Given the description of an element on the screen output the (x, y) to click on. 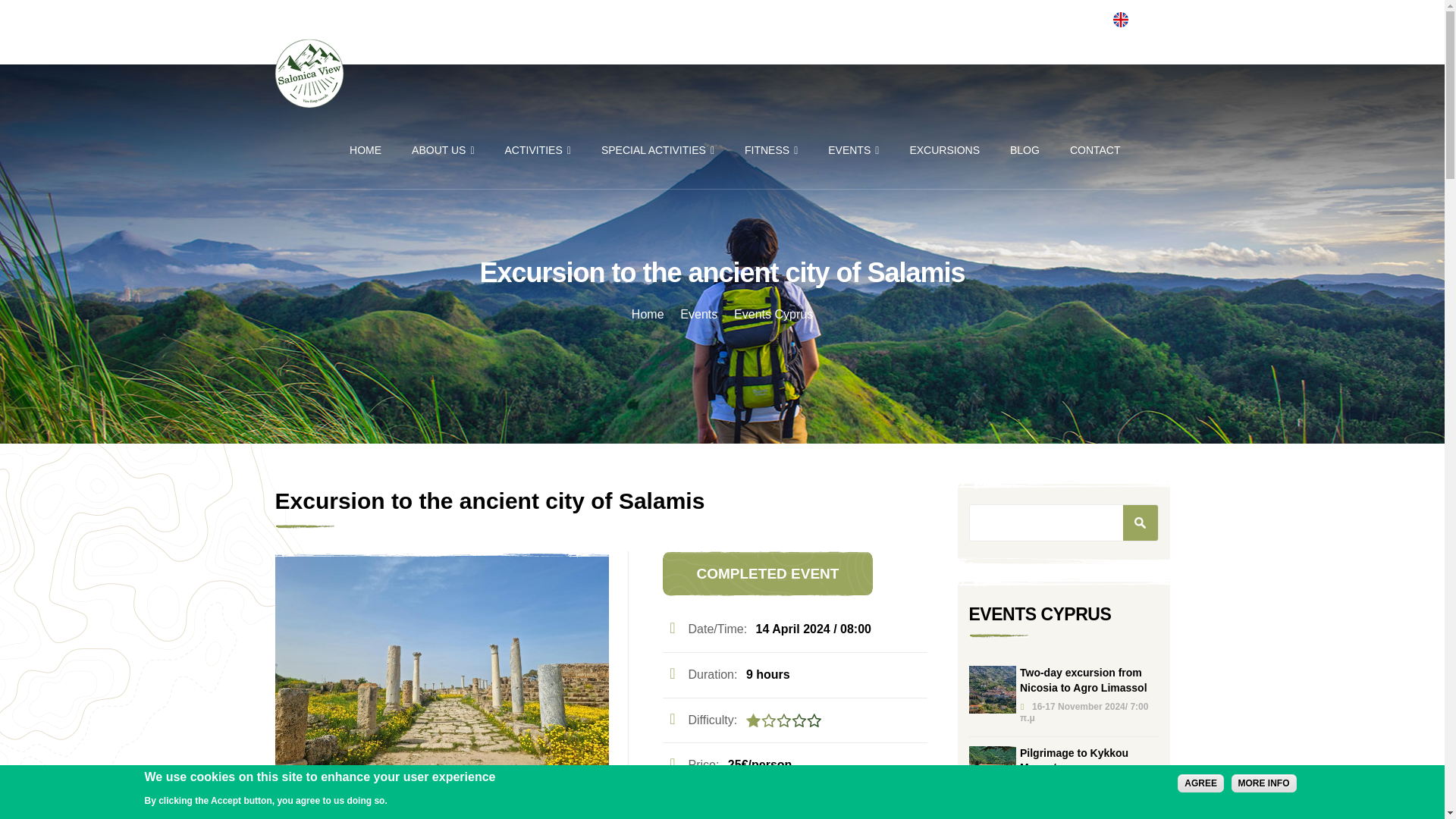
ABOUT US (443, 150)
Two-day excursion from Nicosia to Agro Limassol (992, 689)
Excursion to the ancient city of Salamis  (441, 662)
BLOG (1024, 150)
Enter the terms you wish to search for. (1063, 522)
FITNESS (770, 150)
EVENTS (853, 150)
Search (1139, 522)
Team Building  (672, 810)
Team Building  (733, 811)
HOME (365, 150)
Level 1 (783, 720)
ACTIVITIES (537, 150)
Skip to main content (685, 1)
Pilgrimage to Kykkou Monastery (992, 769)
